Given the description of an element on the screen output the (x, y) to click on. 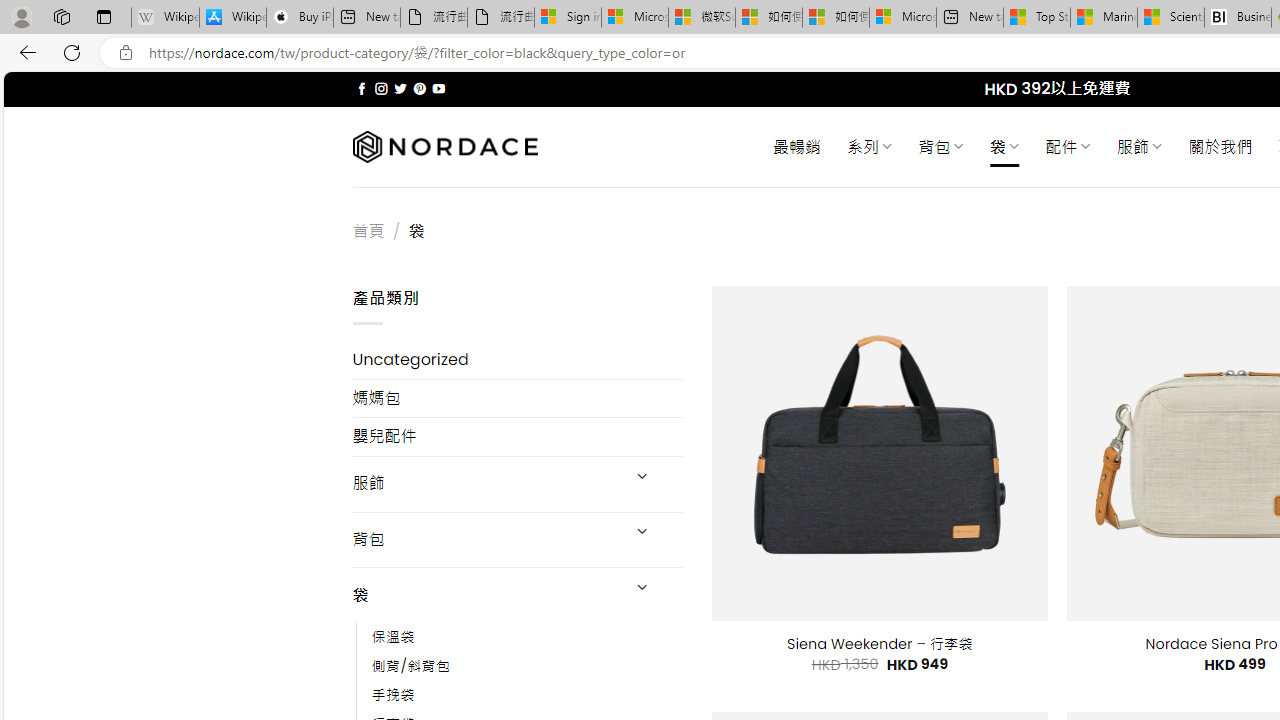
Follow on Pinterest (419, 88)
